Given the description of an element on the screen output the (x, y) to click on. 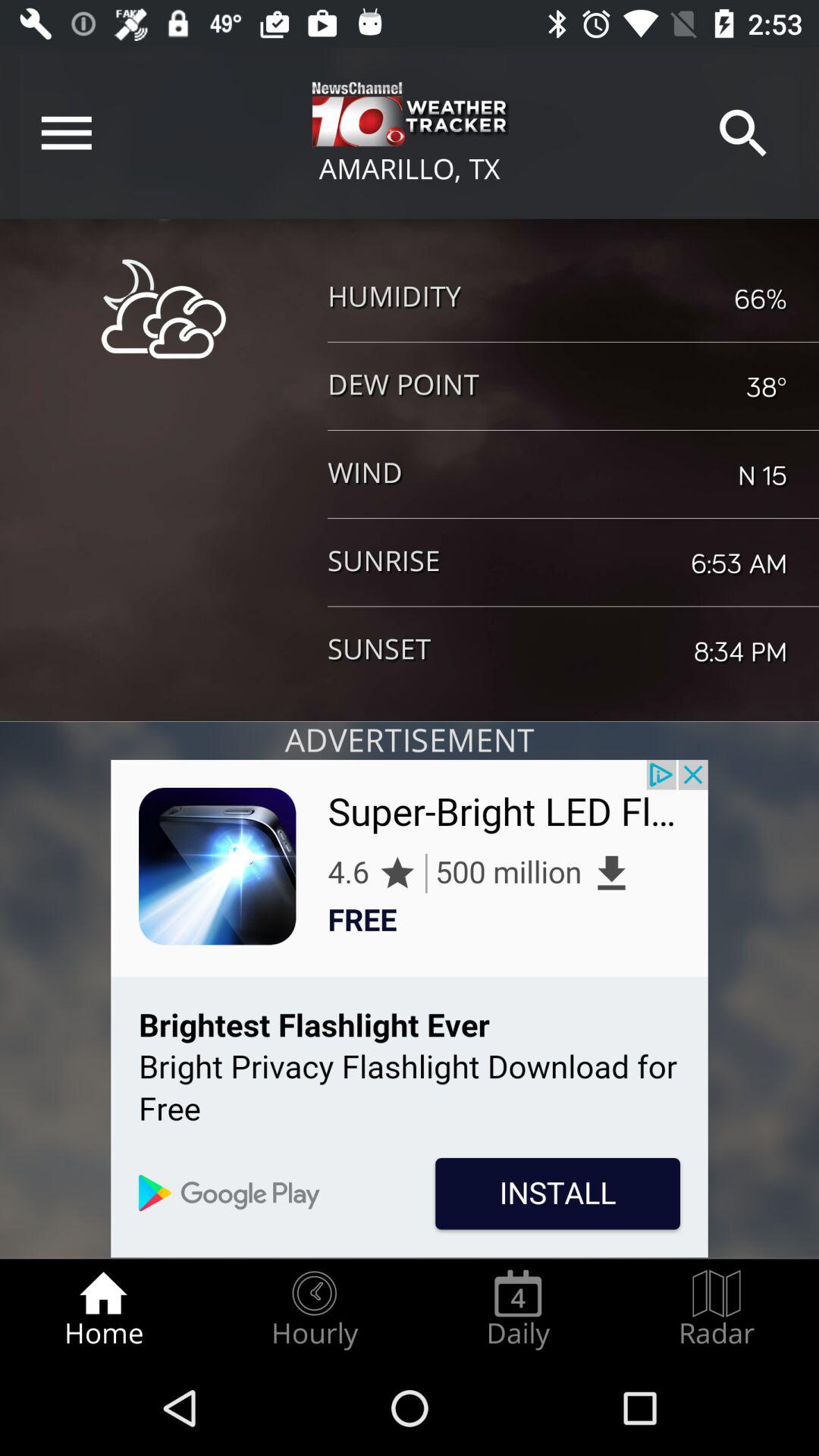
swipe until hourly icon (314, 1309)
